Given the description of an element on the screen output the (x, y) to click on. 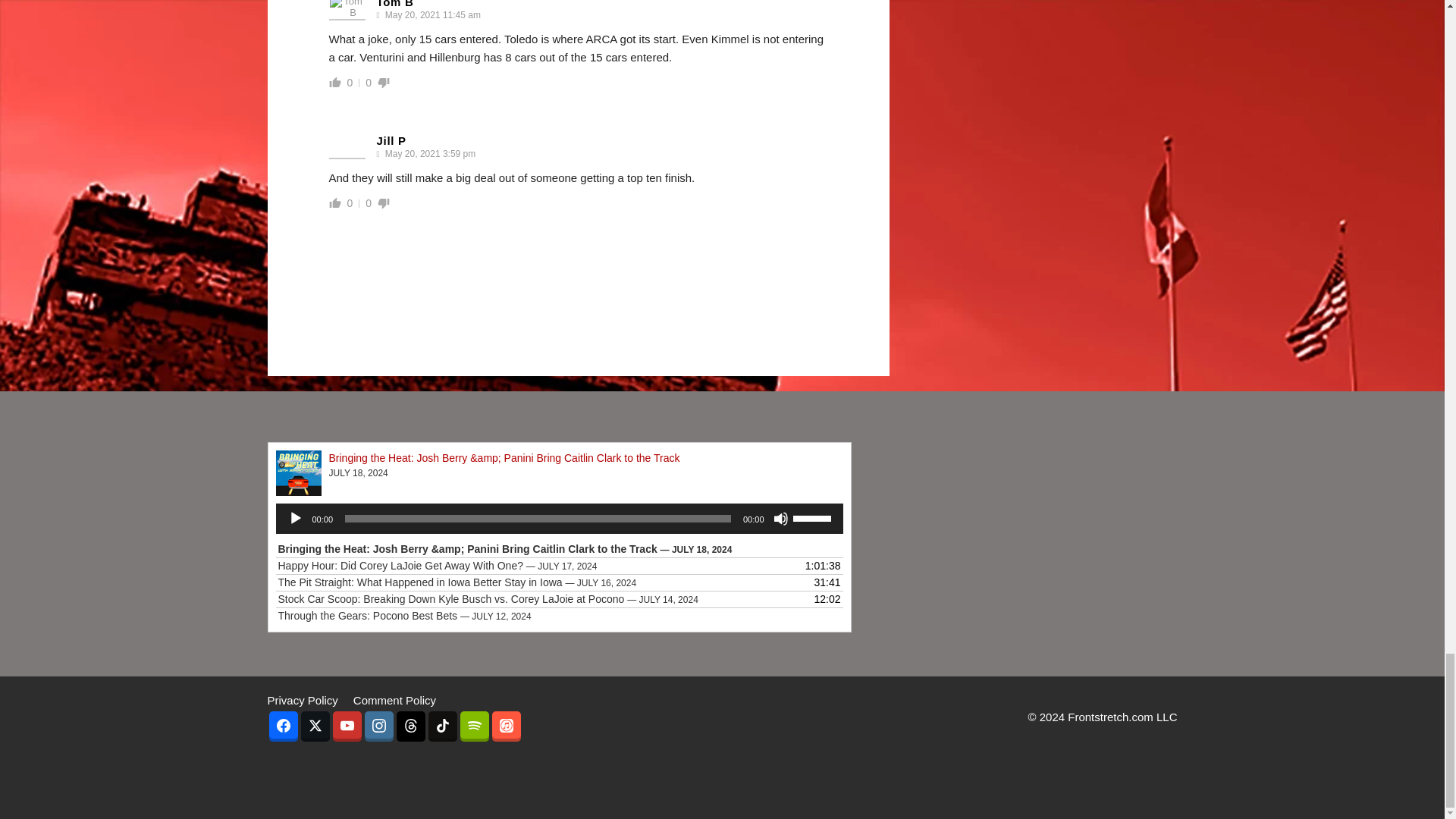
May 20, 2021 11:45 am (431, 15)
0 (349, 82)
